Given the description of an element on the screen output the (x, y) to click on. 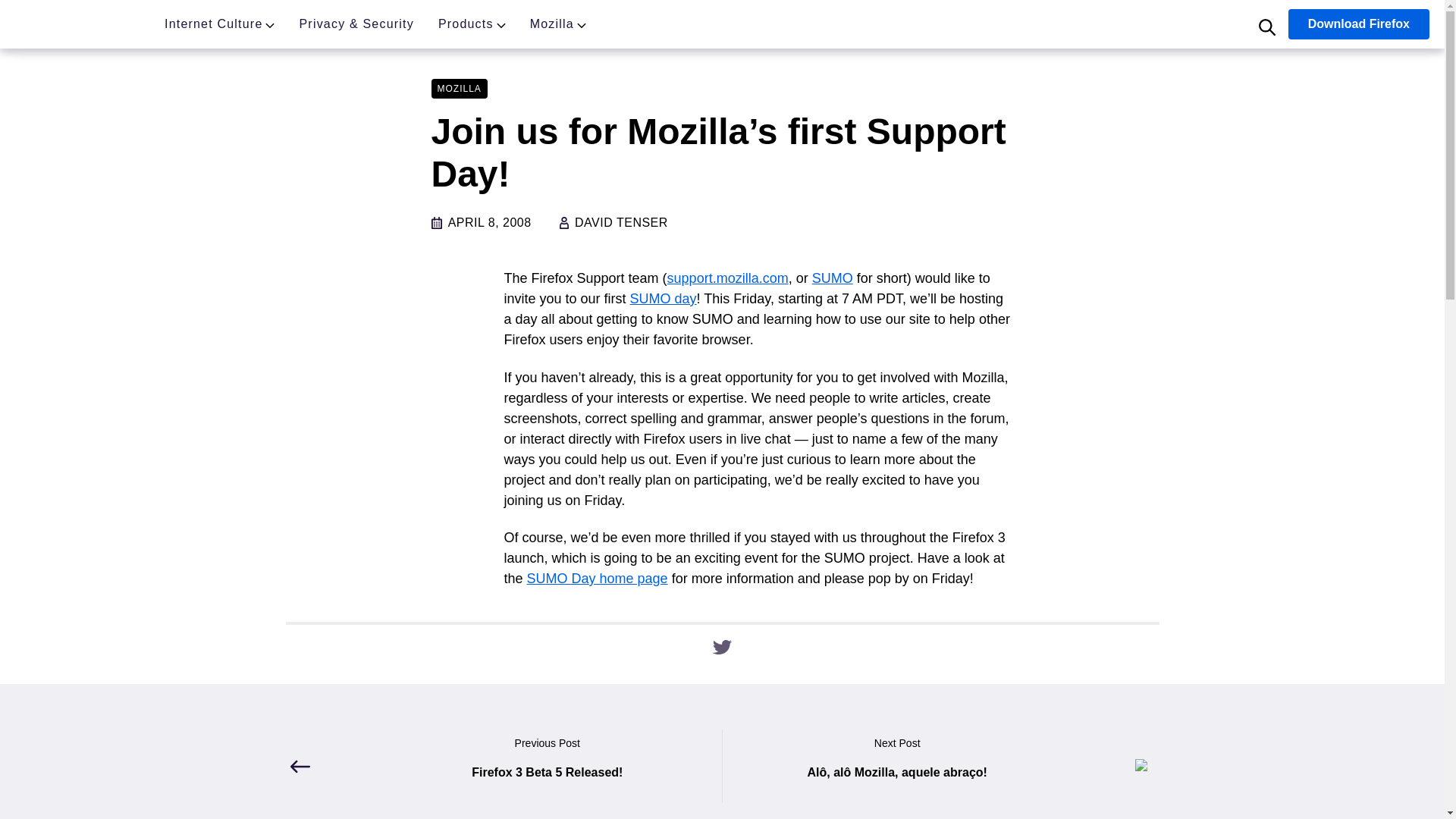
Internet Culture (213, 26)
Mozilla (76, 25)
Posts by David Tenser (621, 222)
SUMO (832, 278)
DAVID TENSER (621, 222)
MOZILLA (458, 87)
Products (465, 26)
support.mozilla.com (727, 278)
SUMO day (663, 298)
SUMO Day home page (597, 578)
